Given the description of an element on the screen output the (x, y) to click on. 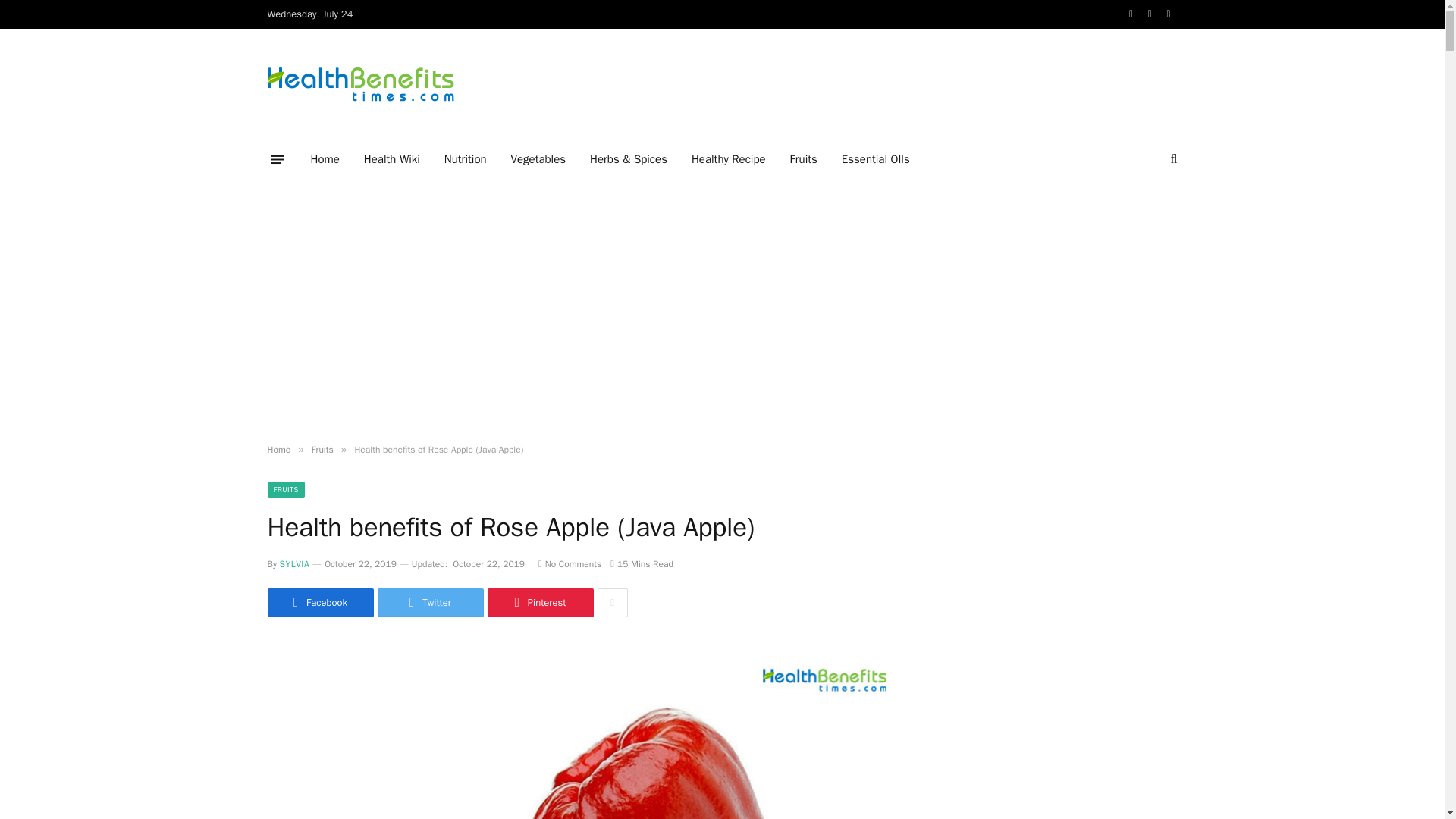
Health Wiki (392, 159)
Healthy Recipe (728, 159)
Pinterest (539, 602)
Posts by Sylvia (294, 563)
No Comments (569, 563)
Health Benefits (359, 83)
Show More Social Sharing (611, 602)
Home (277, 449)
Nutrition (465, 159)
Home (325, 159)
Twitter (430, 602)
SYLVIA (294, 563)
FRUITS (285, 489)
Fruits (803, 159)
